Given the description of an element on the screen output the (x, y) to click on. 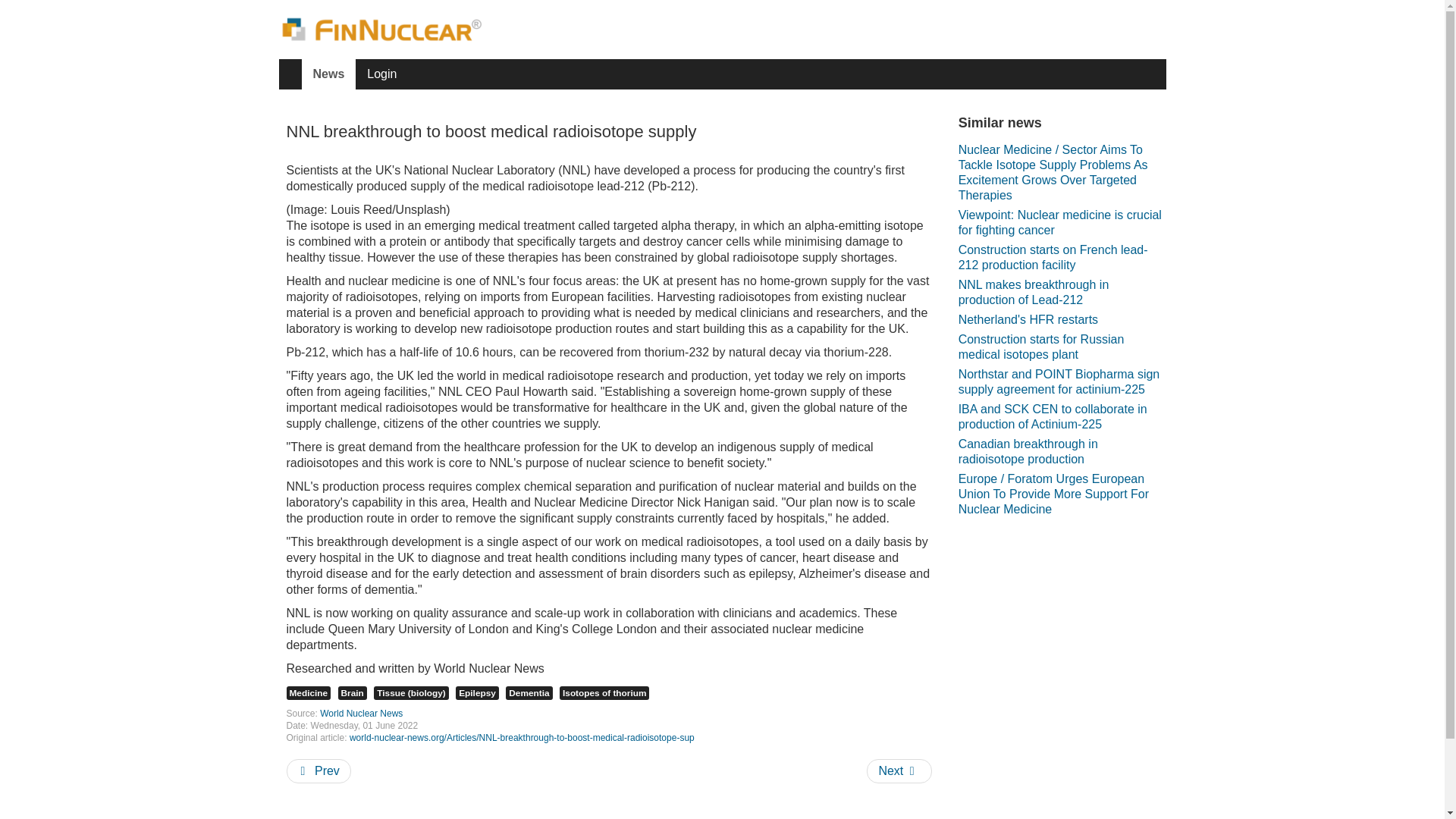
Viewpoint: Nuclear medicine is crucial for fighting cancer (1062, 222)
Dementia (528, 693)
Prev (318, 770)
NNL makes breakthrough in production of Lead-212 (1062, 292)
IBA and SCK CEN to collaborate in production of Actinium-225 (1062, 416)
Construction starts on French lead-212 production facility (1062, 257)
Medicine (308, 693)
Isotopes of thorium (604, 693)
Canadian breakthrough in radioisotope production (1062, 451)
Construction starts for Russian medical isotopes plant (1062, 347)
